Given the description of an element on the screen output the (x, y) to click on. 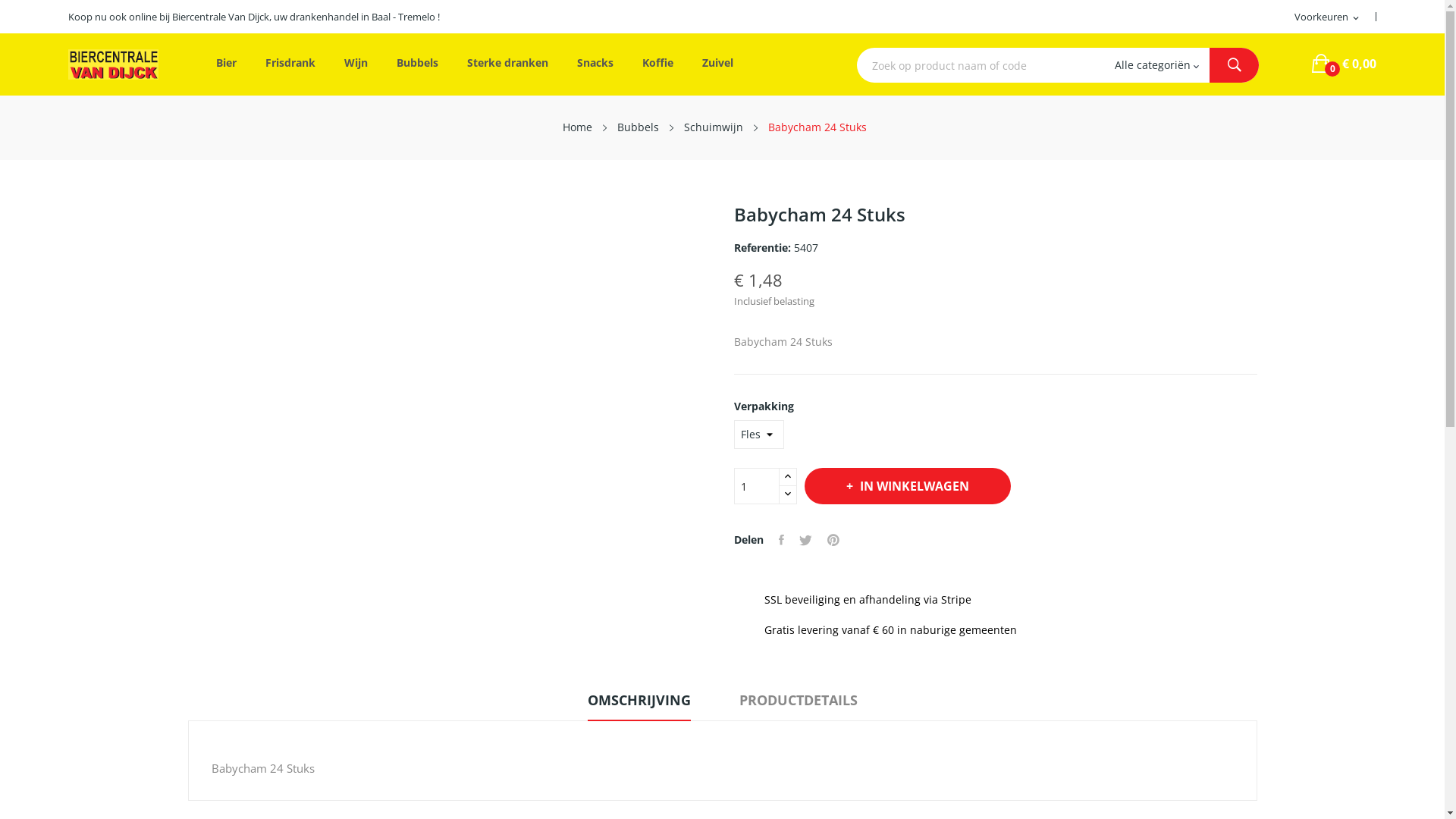
Bubbels Element type: text (417, 63)
Sterke dranken Element type: text (507, 63)
Zuivel Element type: text (717, 63)
Tweet Element type: text (805, 539)
PRODUCTDETAILS Element type: text (797, 705)
Bier Element type: text (226, 63)
Frisdrank Element type: text (290, 63)
Home Element type: text (577, 126)
Schuimwijn Element type: text (713, 126)
Snacks Element type: text (595, 63)
Koffie Element type: text (657, 63)
Babycham 24 Stuks Element type: text (817, 126)
Wijn Element type: text (355, 63)
  SSL beveiliging en afhandeling via Stripe Element type: text (995, 599)
OMSCHRIJVING Element type: text (638, 705)
Delen Element type: text (780, 539)
Voorkeuren expand_more Element type: text (1327, 17)
IN WINKELWAGEN Element type: text (906, 485)
Pinterest Element type: text (832, 539)
Bubbels Element type: text (637, 126)
